Given the description of an element on the screen output the (x, y) to click on. 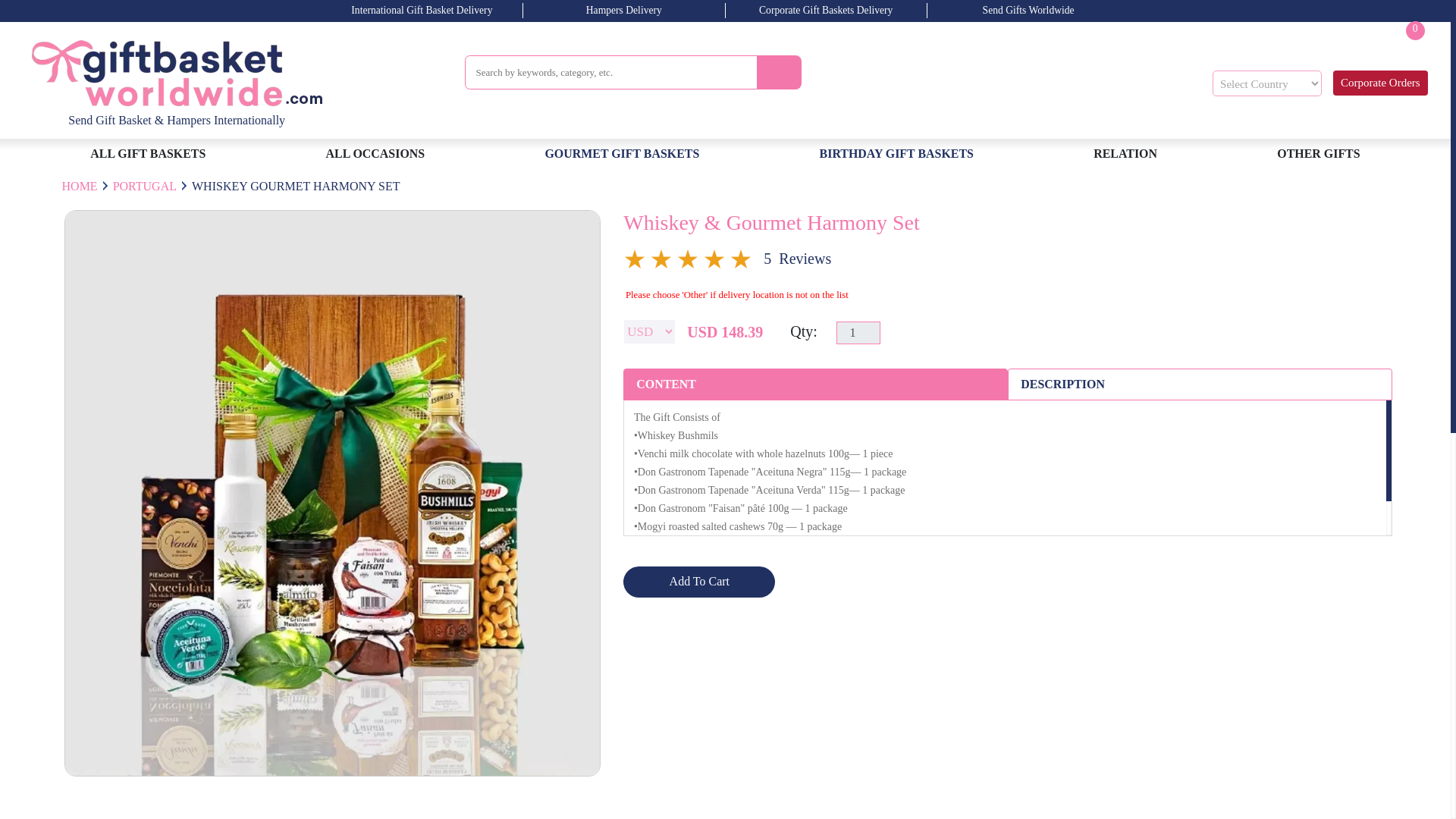
ALL GIFT BASKETS (148, 153)
1 (1404, 52)
GOURMET GIFT BASKETS (857, 332)
BIRTHDAY GIFT BASKETS (622, 153)
RELATION (896, 153)
ALL OCCASIONS (1125, 153)
Corporate Orders (374, 153)
3 characters minimum (1380, 82)
CONTACT US (610, 72)
